Given the description of an element on the screen output the (x, y) to click on. 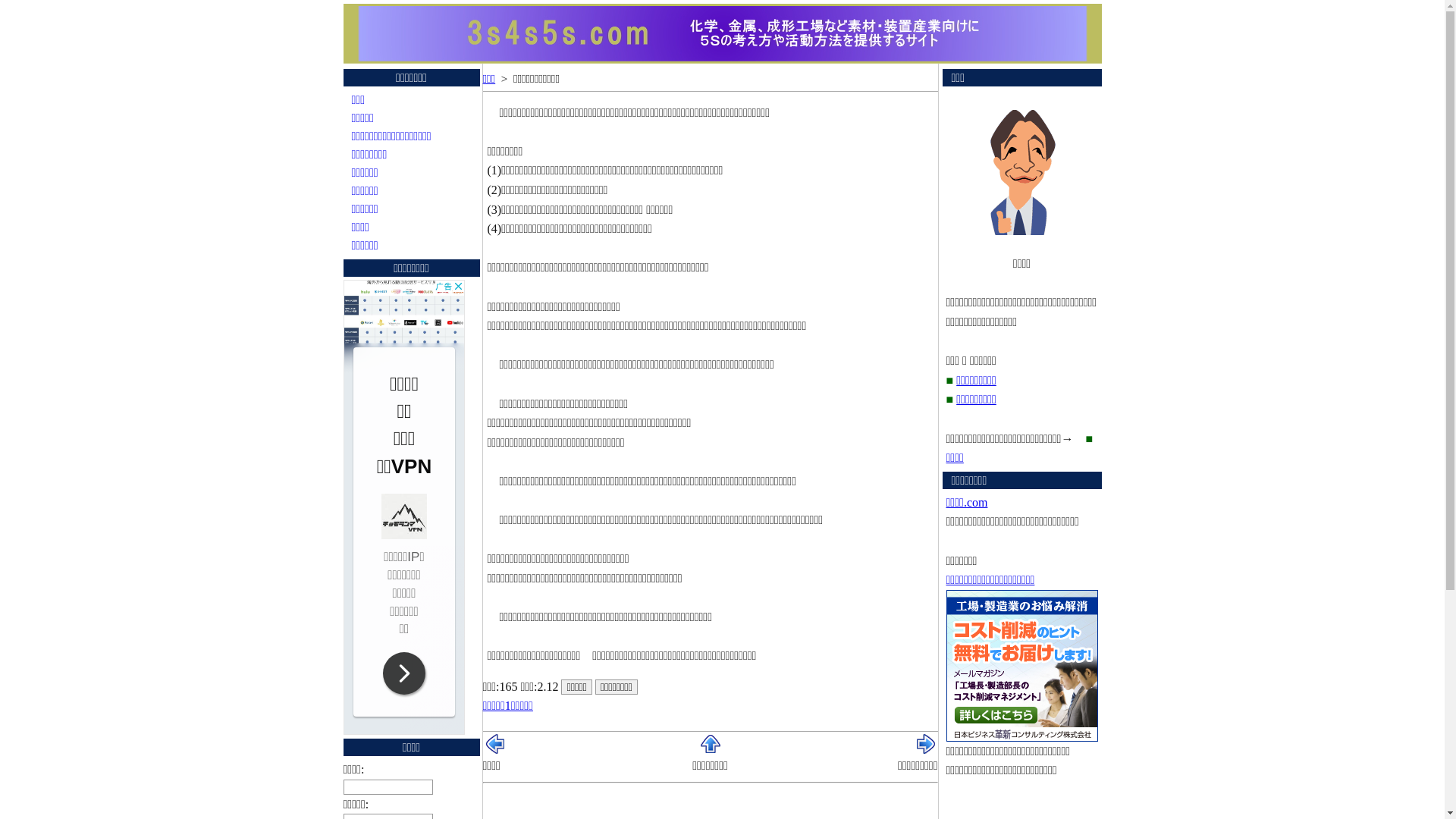
Advertisement Element type: hover (403, 506)
